Given the description of an element on the screen output the (x, y) to click on. 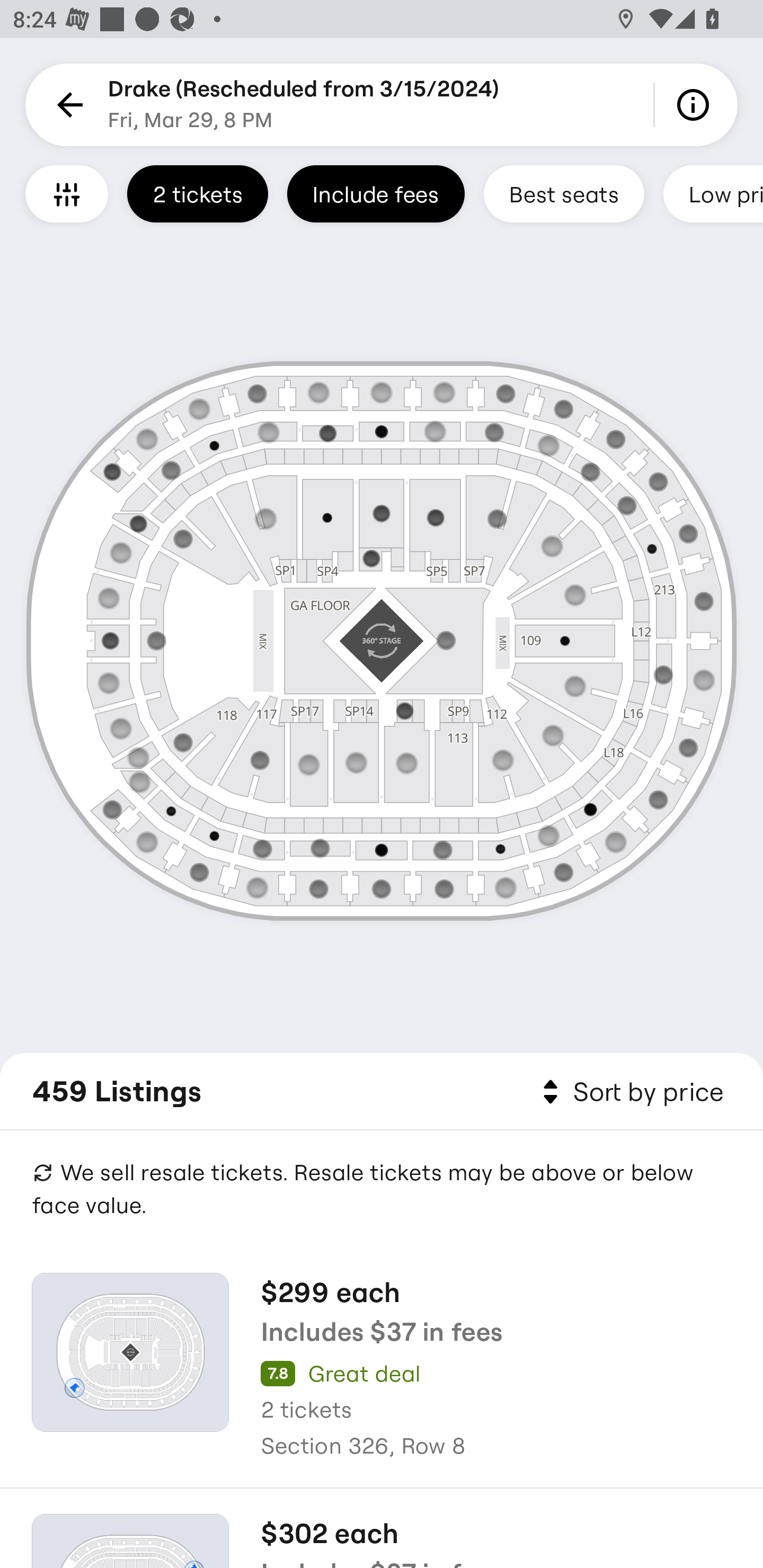
Back (66, 104)
Info (695, 104)
Filters and Accessible Seating (66, 193)
2 tickets (197, 193)
Include fees (375, 193)
Best seats (563, 193)
Low prices (713, 193)
Sort by price (629, 1091)
